Given the description of an element on the screen output the (x, y) to click on. 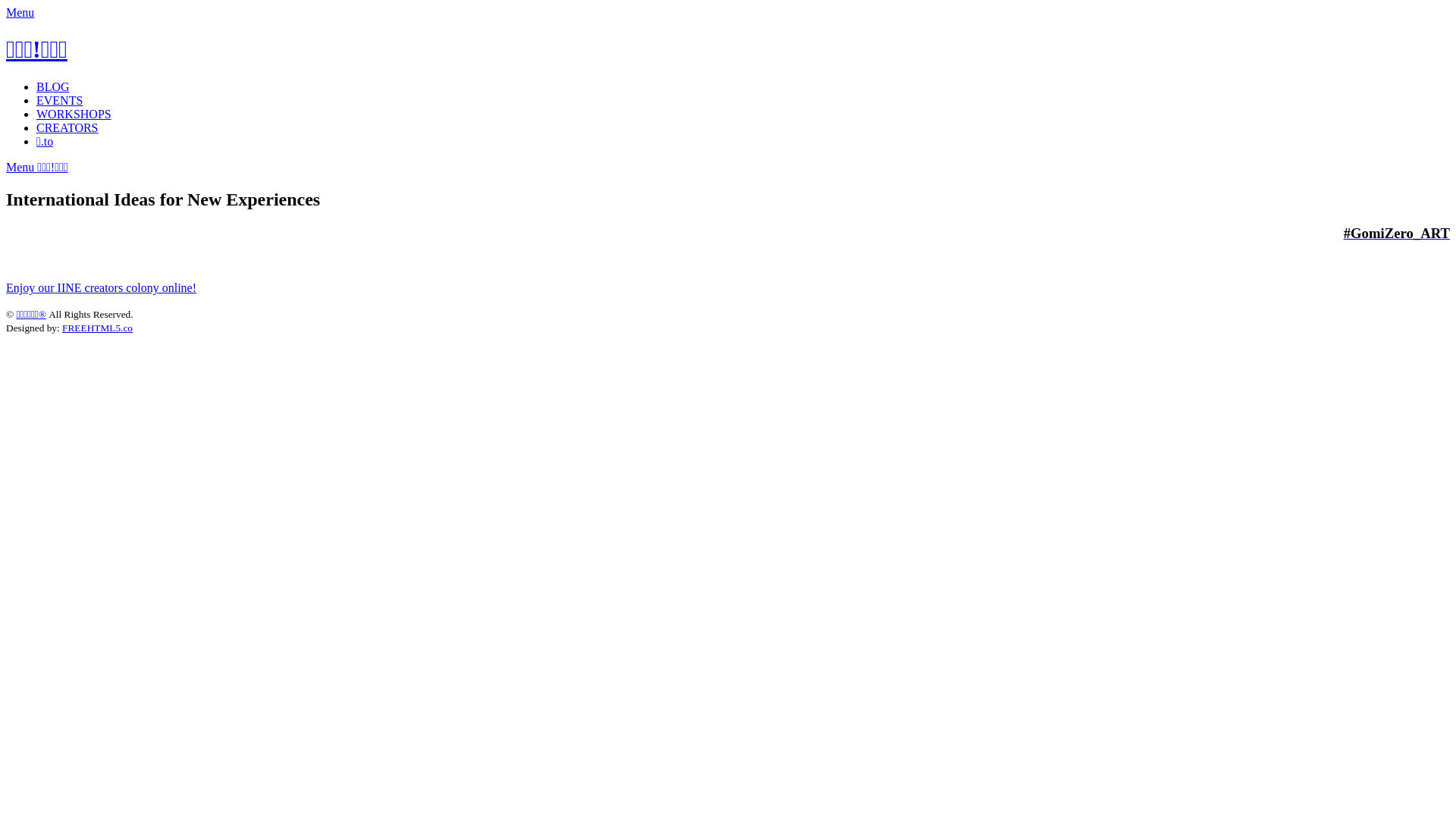
#GomiZero_ART Element type: text (1396, 233)
WORKSHOPS Element type: text (73, 113)
Menu Element type: text (20, 12)
FREEHTML5.co Element type: text (97, 327)
CREATORS Element type: text (67, 127)
Enjoy our IINE creators colony online! Element type: text (101, 287)
EVENTS Element type: text (59, 100)
Menu Element type: text (21, 166)
BLOG Element type: text (52, 86)
